Given the description of an element on the screen output the (x, y) to click on. 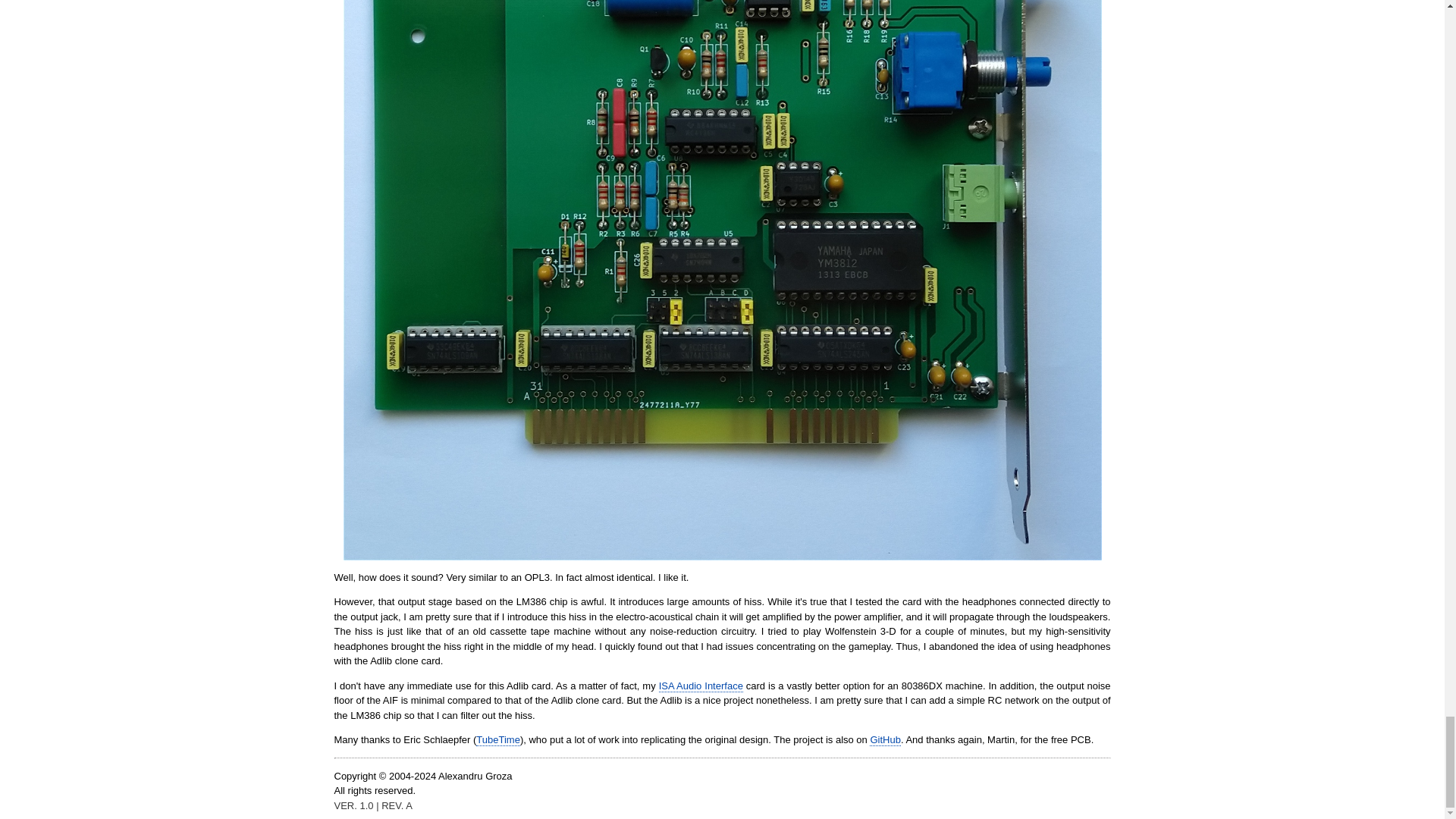
GitHub (884, 739)
adlib (884, 739)
ISA AUDIO INTERFACE (700, 686)
ISA Audio Interface (700, 686)
TubeTime (497, 739)
TubeTime (497, 739)
